Given the description of an element on the screen output the (x, y) to click on. 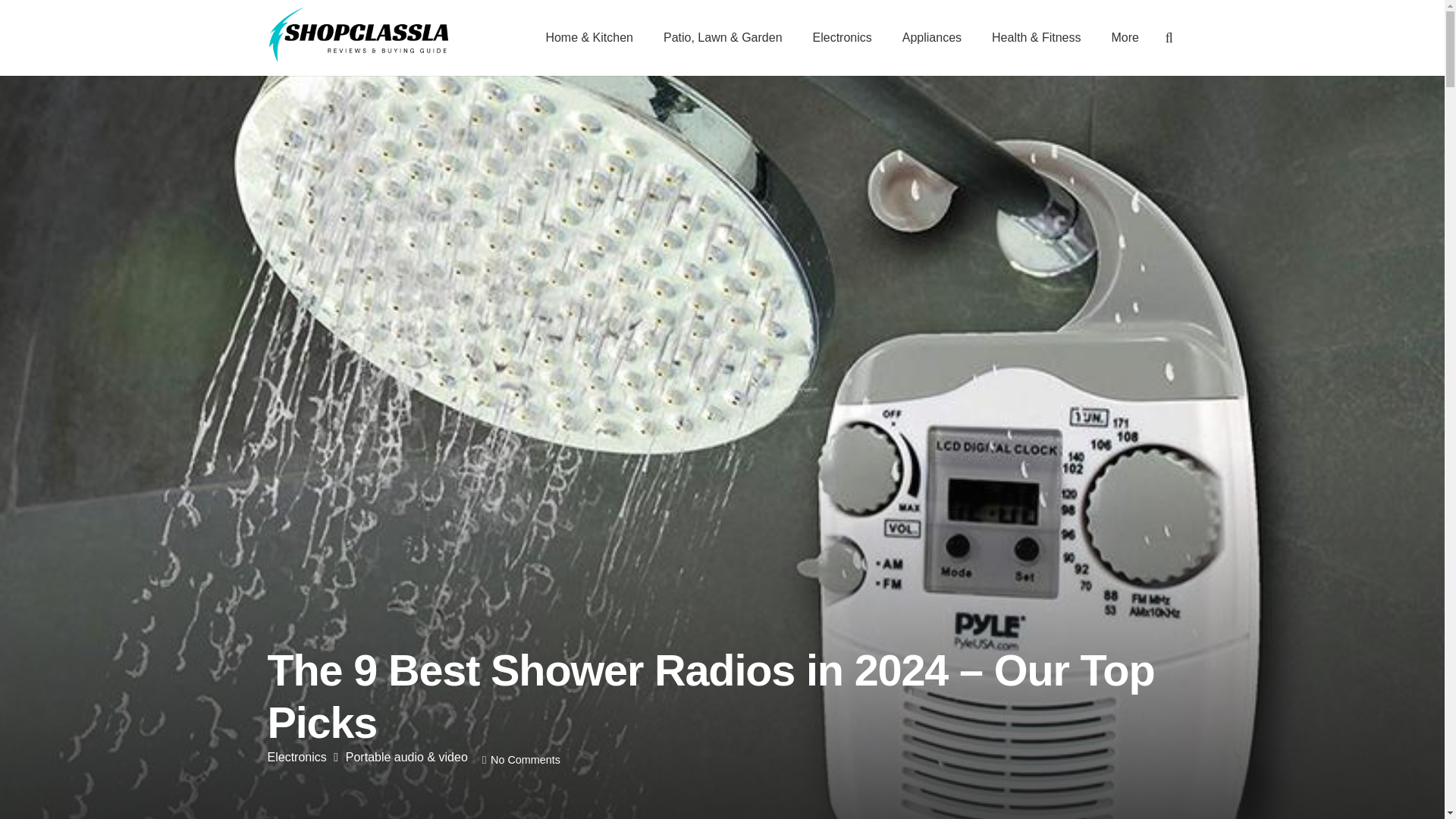
Electronics (841, 38)
Electronics (296, 757)
Appliances (931, 38)
No Comments (525, 759)
No Comments (525, 759)
